Given the description of an element on the screen output the (x, y) to click on. 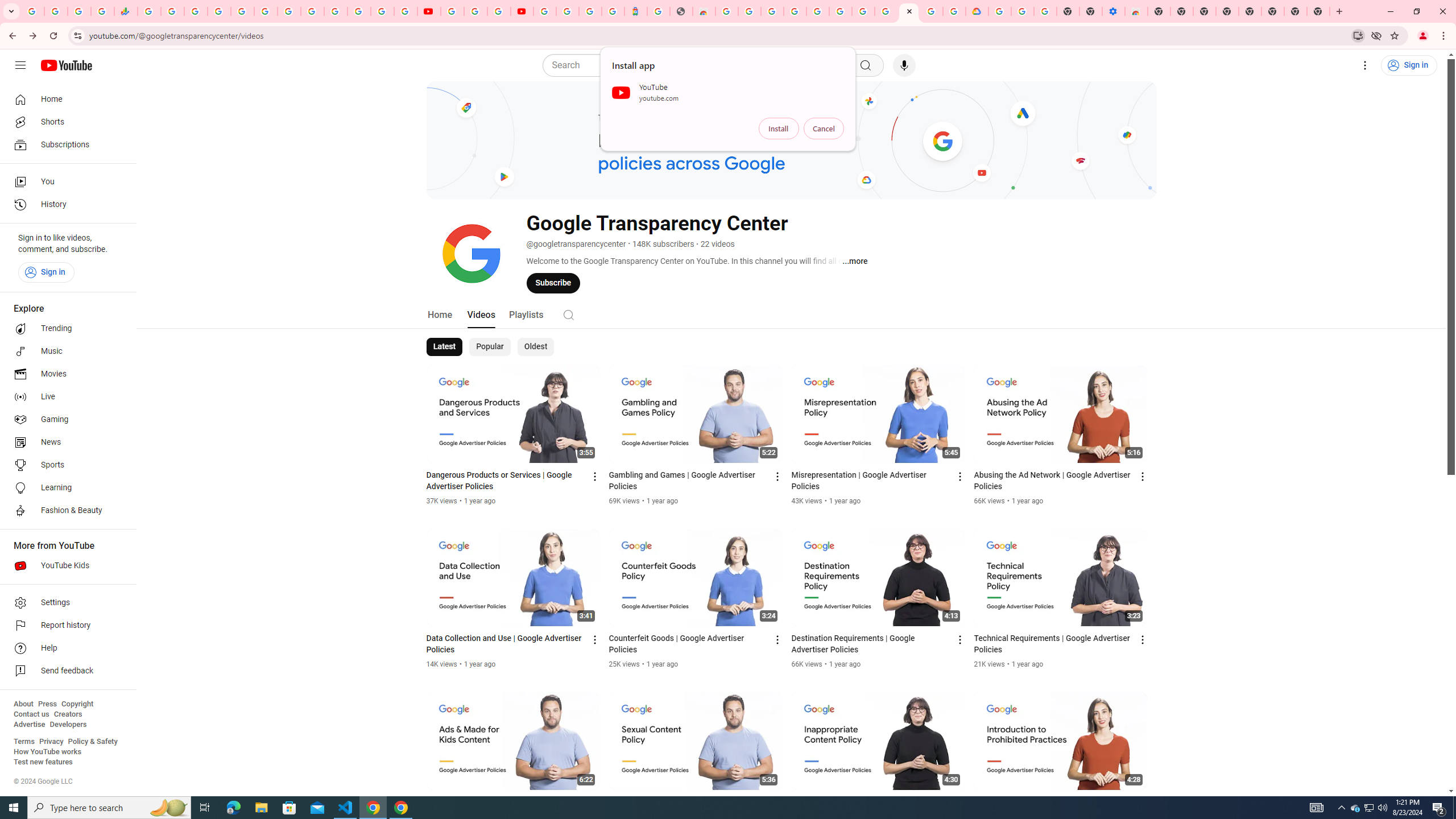
Shorts (64, 121)
Developers (68, 724)
Advertise (29, 724)
Google Workspace Admin Community (32, 11)
YouTube (312, 11)
Videos (481, 314)
Sign in - Google Accounts (381, 11)
